Given the description of an element on the screen output the (x, y) to click on. 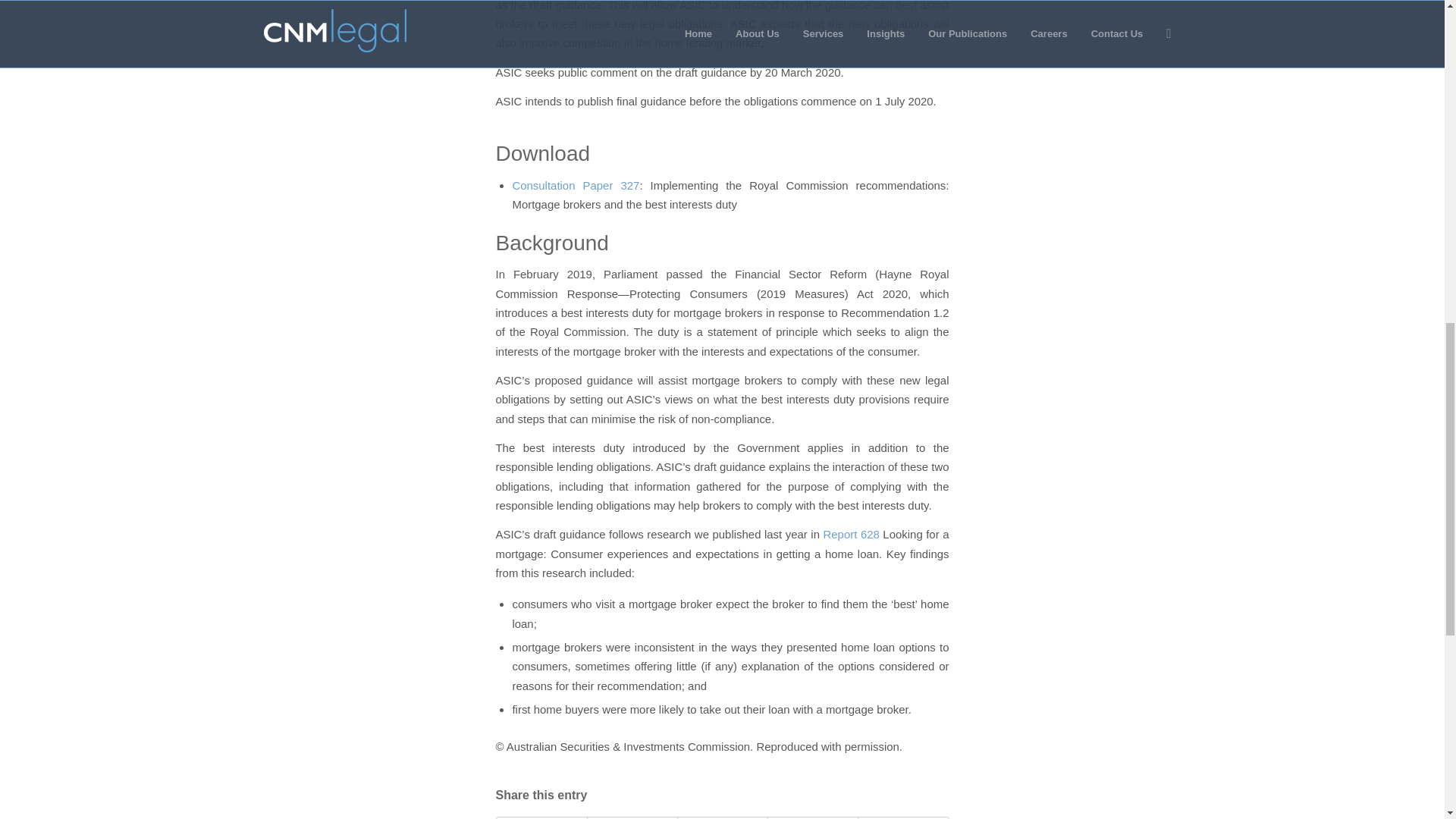
Consultation Paper 327 (575, 185)
Report 628 (851, 533)
